Given the description of an element on the screen output the (x, y) to click on. 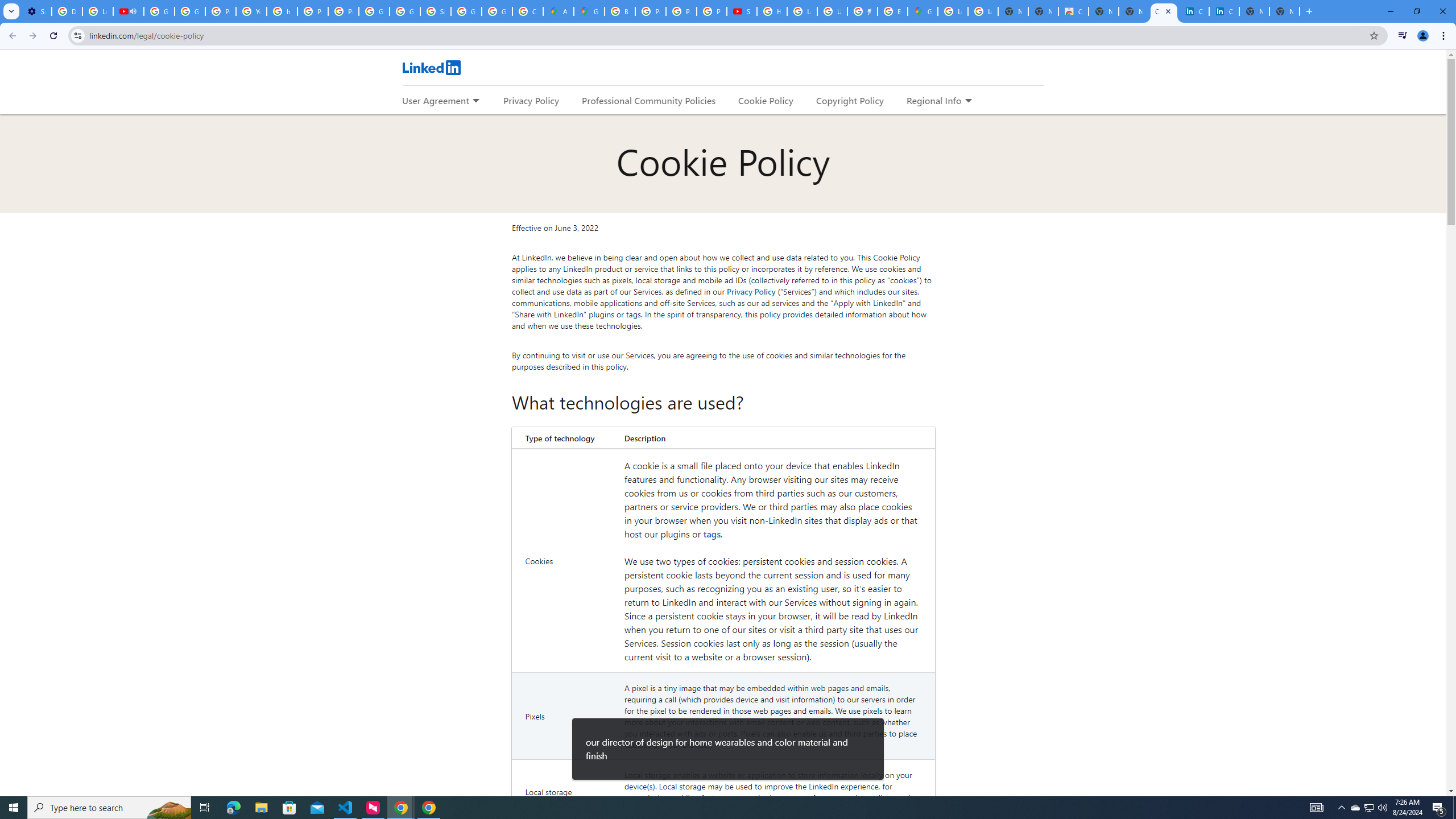
Cookie Policy (765, 100)
Privacy Help Center - Policies Help (312, 11)
Google Maps (922, 11)
Settings - Customize profile (36, 11)
Google Account Help (158, 11)
Expand to show more links for User Agreement (475, 101)
Subscriptions - YouTube (741, 11)
Cookie Policy | LinkedIn (1193, 11)
Expand to show more links for Regional Info (967, 101)
